Given the description of an element on the screen output the (x, y) to click on. 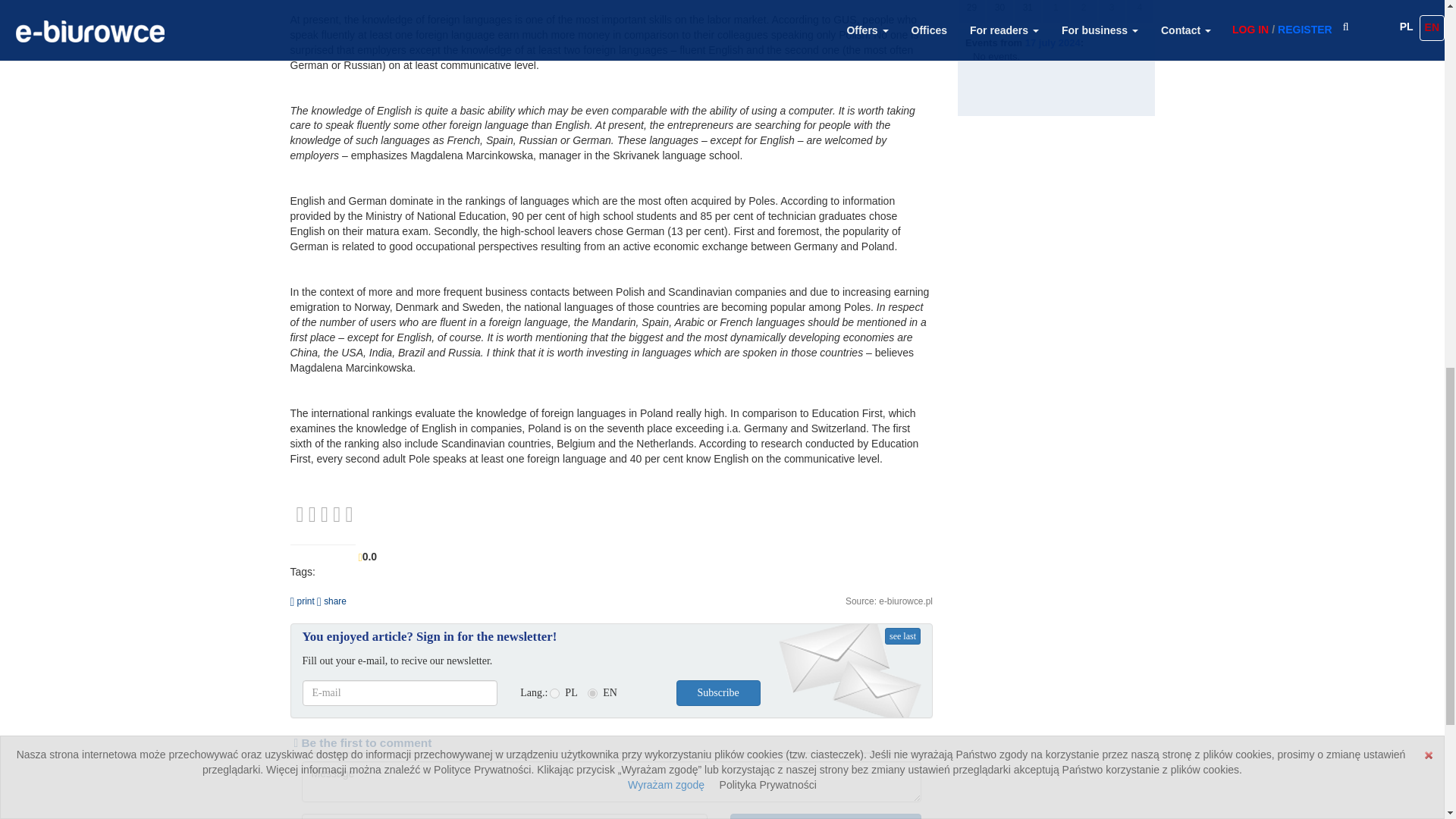
0 (324, 513)
Subscribe (718, 692)
pl (554, 693)
Last newsletter (902, 636)
Post (824, 816)
print (301, 601)
share (331, 601)
en (592, 693)
